Given the description of an element on the screen output the (x, y) to click on. 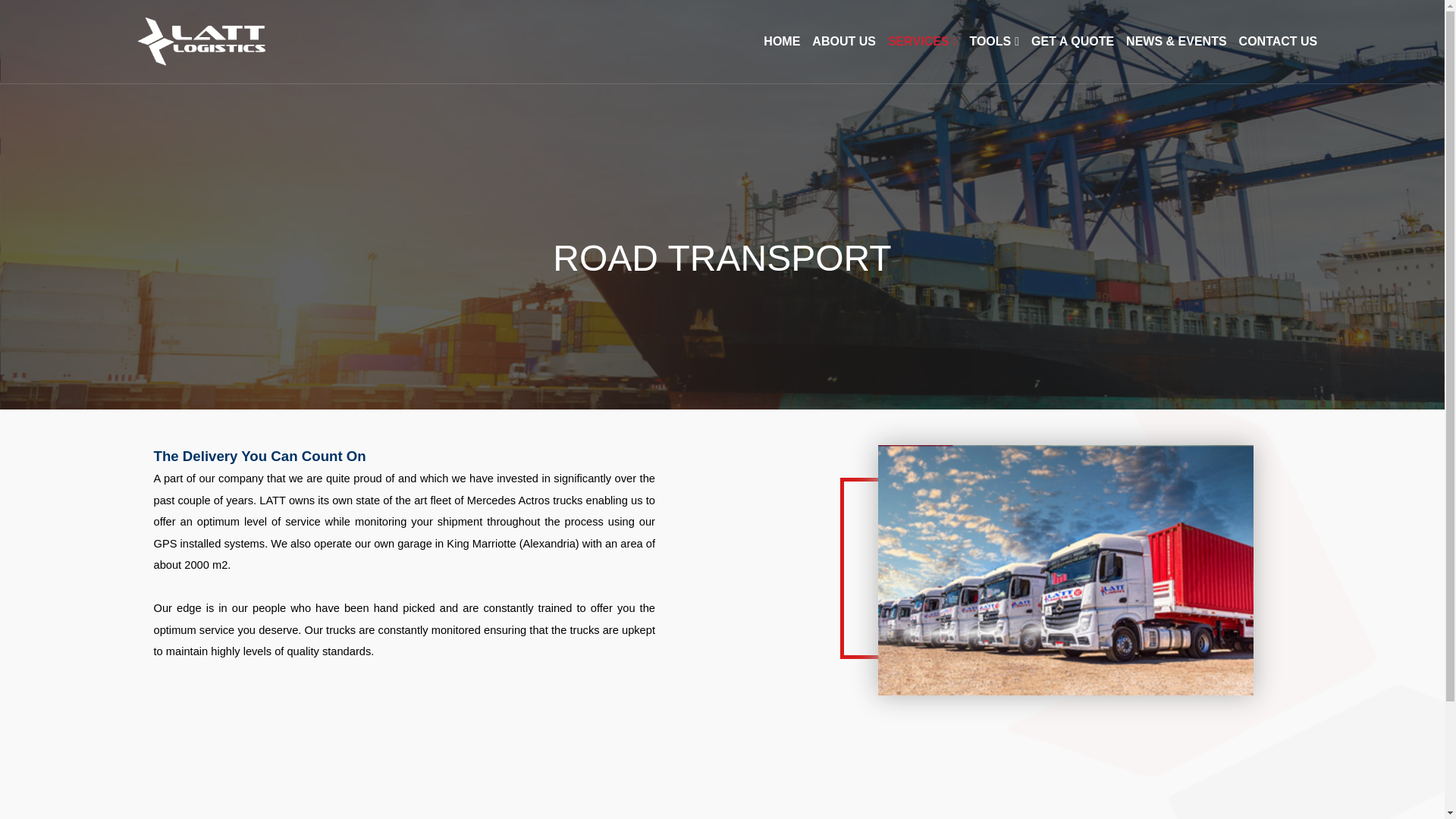
GET A QUOTE (1071, 41)
TOOLS (994, 41)
HOME (780, 41)
CONTACT US (1278, 41)
SERVICES (922, 41)
ABOUT US (844, 41)
